Given the description of an element on the screen output the (x, y) to click on. 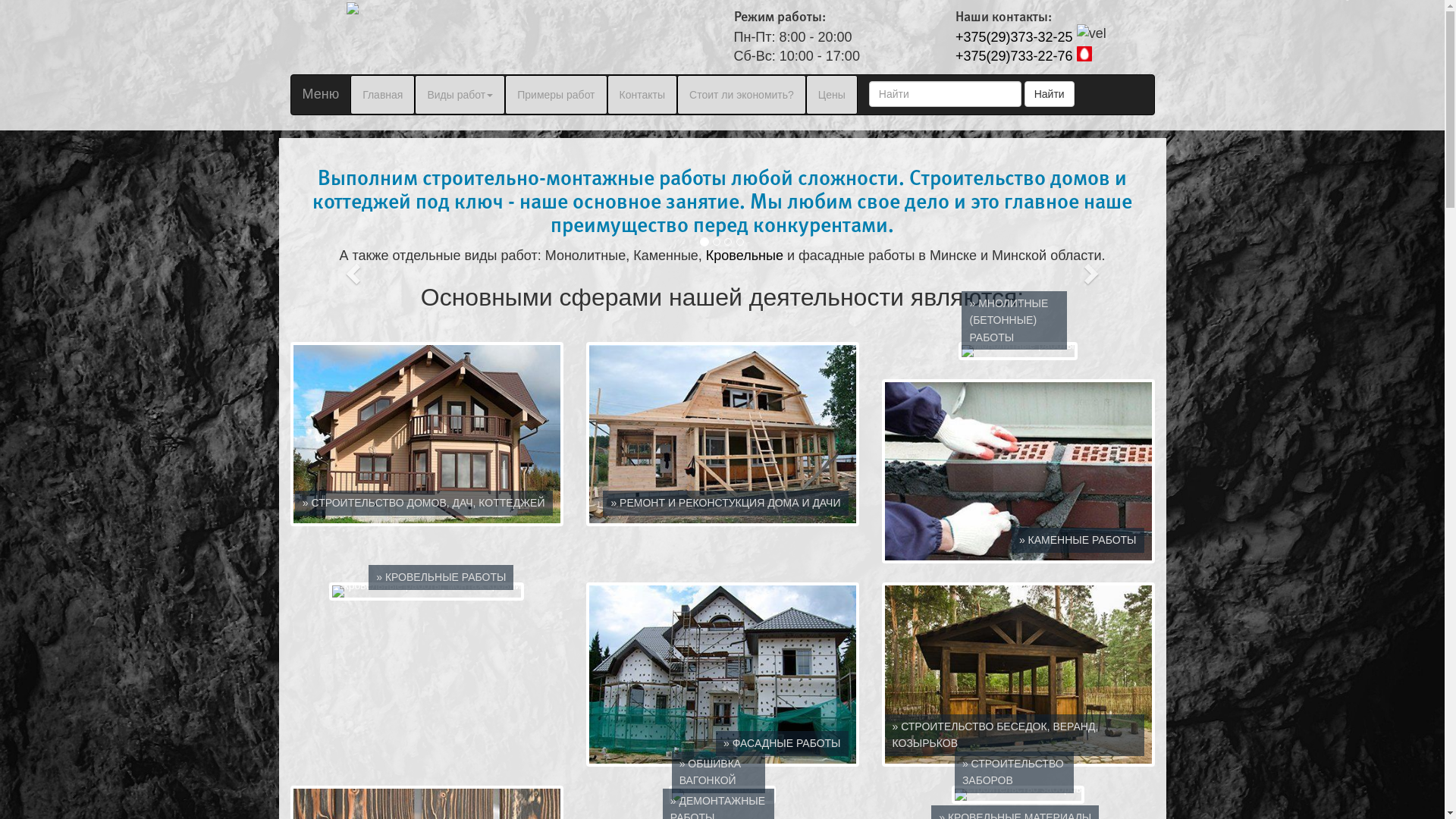
+375(29)373-32-25 Element type: text (1014, 36)
+375(29)733-22-76 Element type: text (1014, 55)
